Given the description of an element on the screen output the (x, y) to click on. 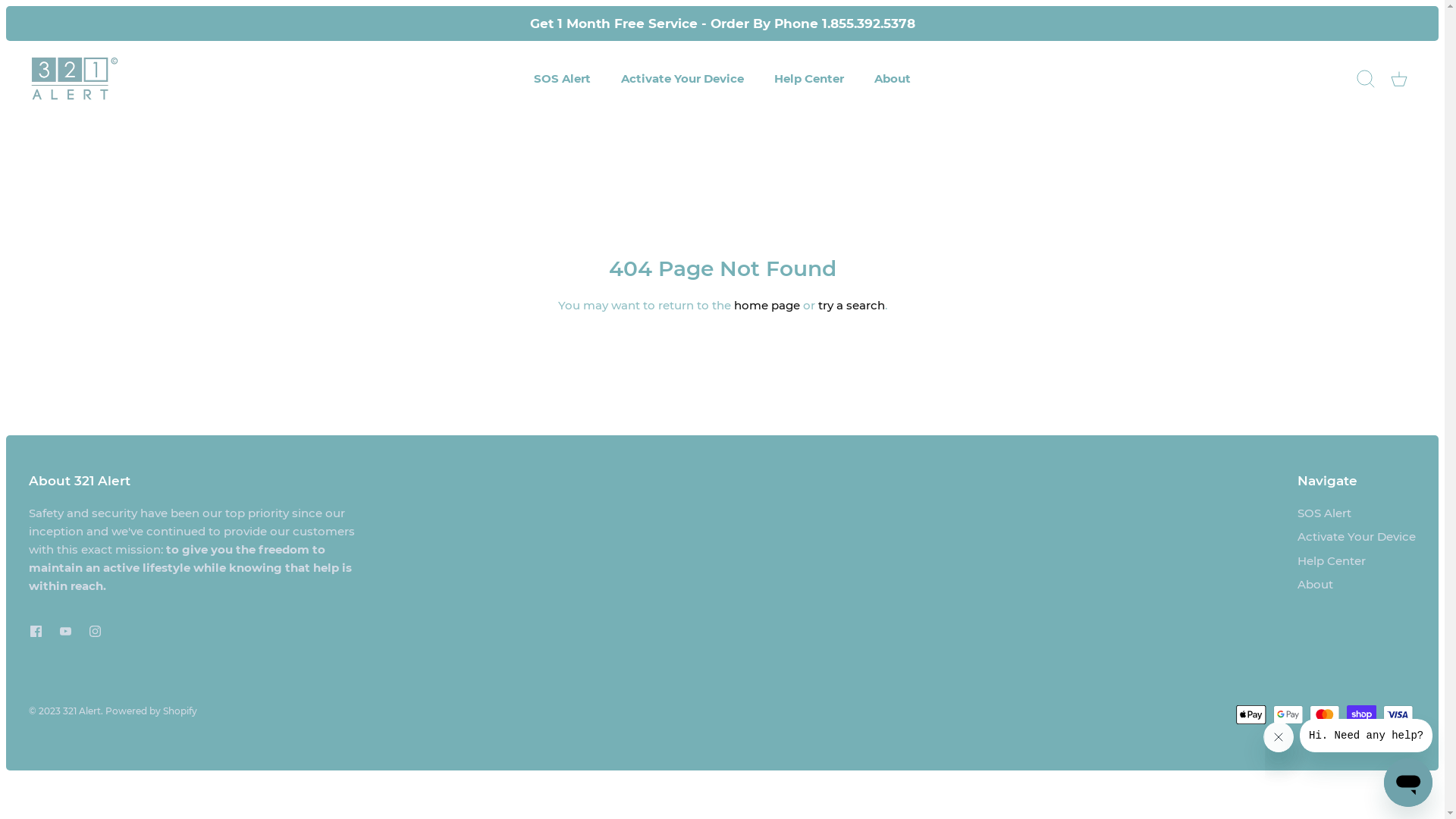
SOS Alert Element type: text (1324, 512)
Activate Your Device Element type: text (682, 78)
321 Alert Element type: text (81, 710)
Activate Your Device Element type: text (1356, 536)
321 Alert Element type: hover (73, 78)
Powered by Shopify Element type: text (151, 710)
Instagram Element type: text (94, 631)
try a search Element type: text (850, 305)
About Element type: text (1315, 584)
Cart Element type: text (1398, 78)
Help Center Element type: text (1331, 560)
Help Center Element type: text (808, 78)
Facebook Element type: text (35, 631)
home page Element type: text (767, 305)
Search Element type: text (1365, 78)
Youtube Element type: text (65, 631)
About Element type: text (892, 78)
SOS Alert Element type: text (562, 78)
Message from company Element type: hover (1365, 735)
Close message Element type: hover (1278, 736)
Button to launch messaging window Element type: hover (1407, 782)
